Given the description of an element on the screen output the (x, y) to click on. 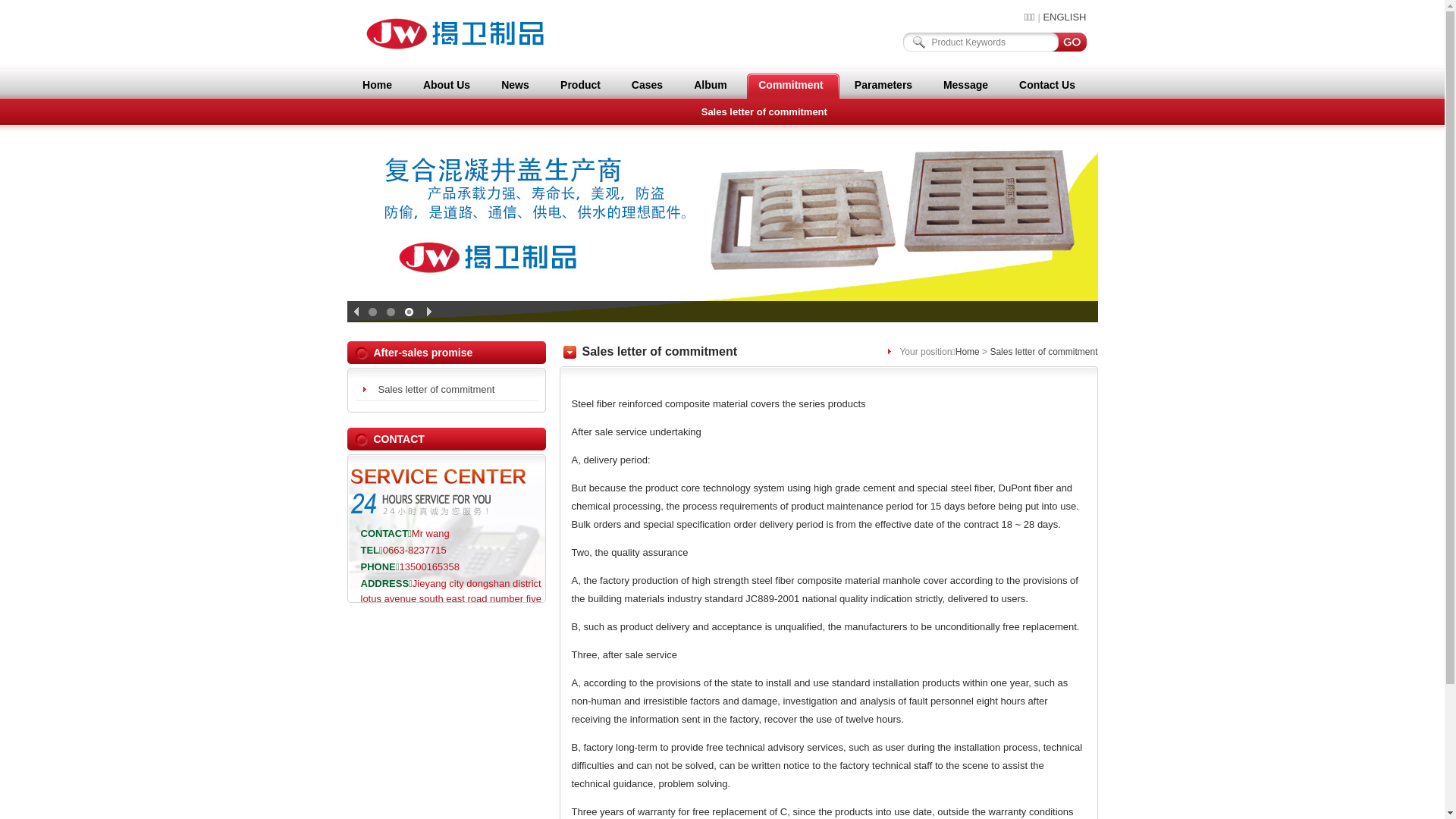
Message Element type: text (965, 84)
Contact Us Element type: text (1046, 84)
Sales letter of commitment Element type: text (1043, 351)
Sales letter of commitment Element type: text (764, 111)
ENGLISH Element type: text (1063, 16)
Parameters Element type: text (883, 84)
Album Element type: text (710, 84)
Commitment Element type: text (790, 84)
Cases Element type: text (647, 84)
Home Element type: text (376, 84)
Home Element type: text (967, 351)
News Element type: text (515, 84)
Product Element type: text (580, 84)
Sales letter of commitment Element type: text (445, 389)
About Us Element type: text (446, 84)
